Given the description of an element on the screen output the (x, y) to click on. 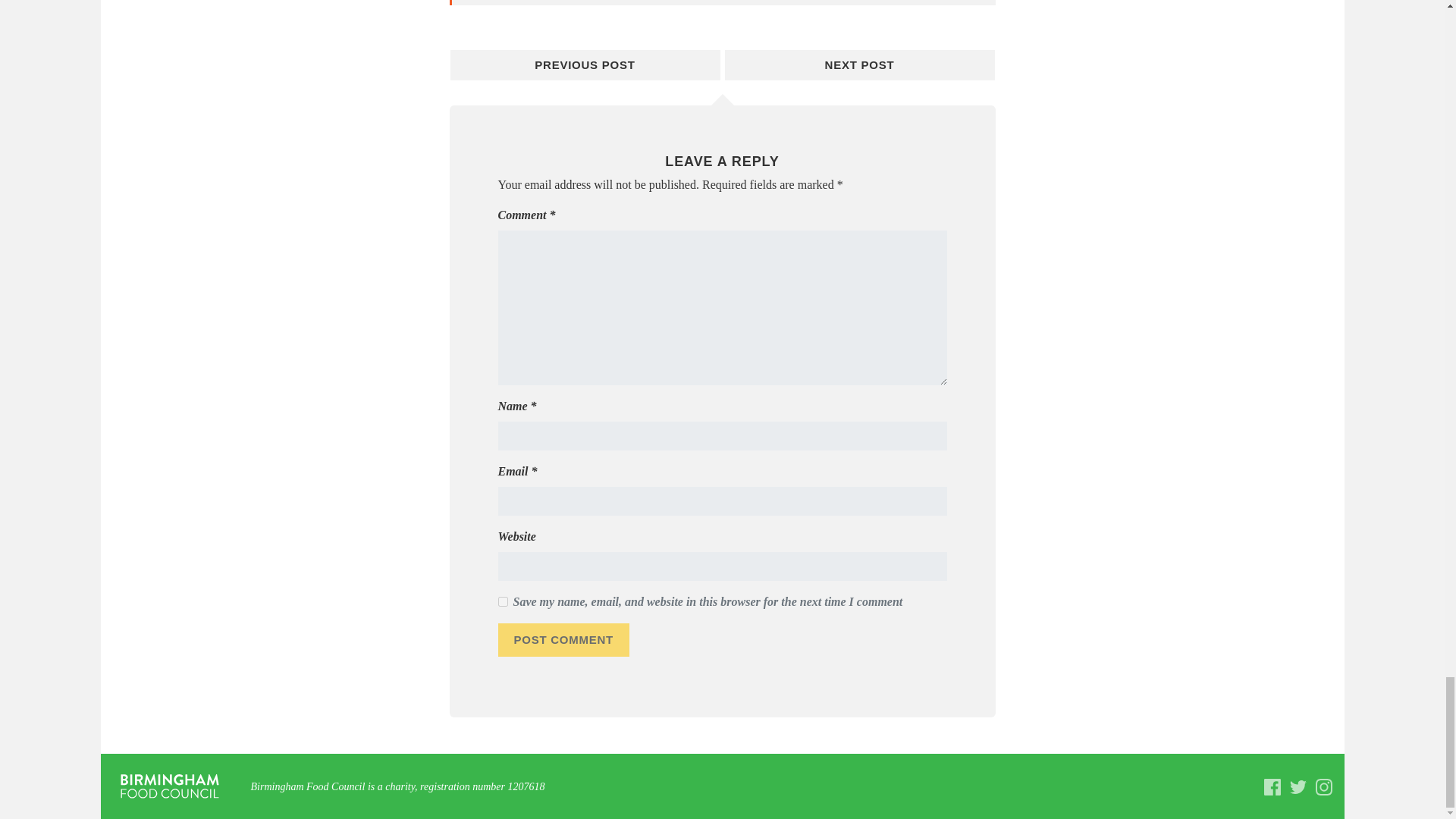
yes (501, 601)
Post Comment (562, 639)
